Given the description of an element on the screen output the (x, y) to click on. 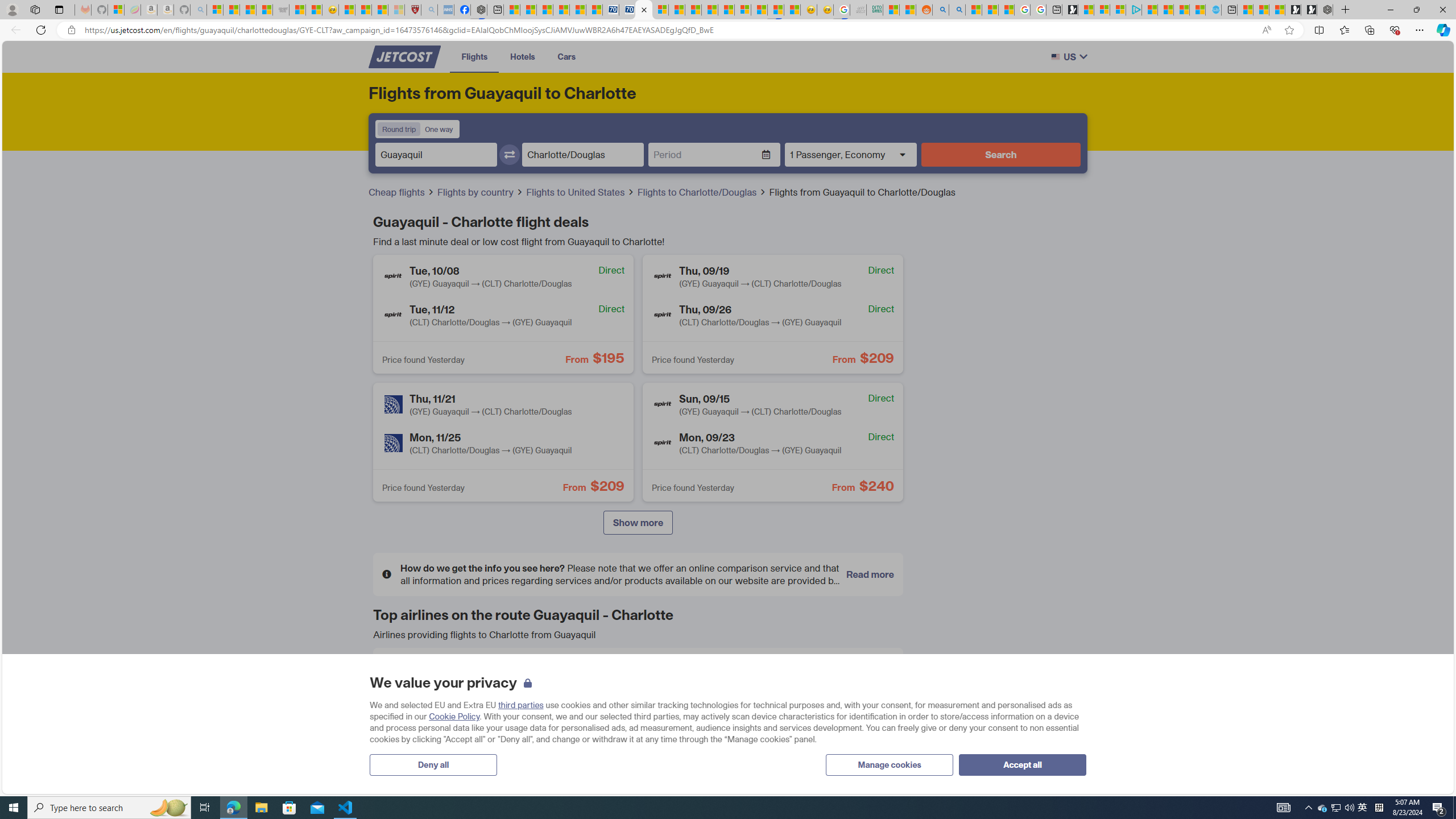
Spirit Airlines Spirit Airlines (809, 716)
DELTA (400, 715)
Cookie Policy (454, 716)
Arrival place (583, 154)
Terms and Conditions (613, 623)
Cheap flights (397, 191)
